Given the description of an element on the screen output the (x, y) to click on. 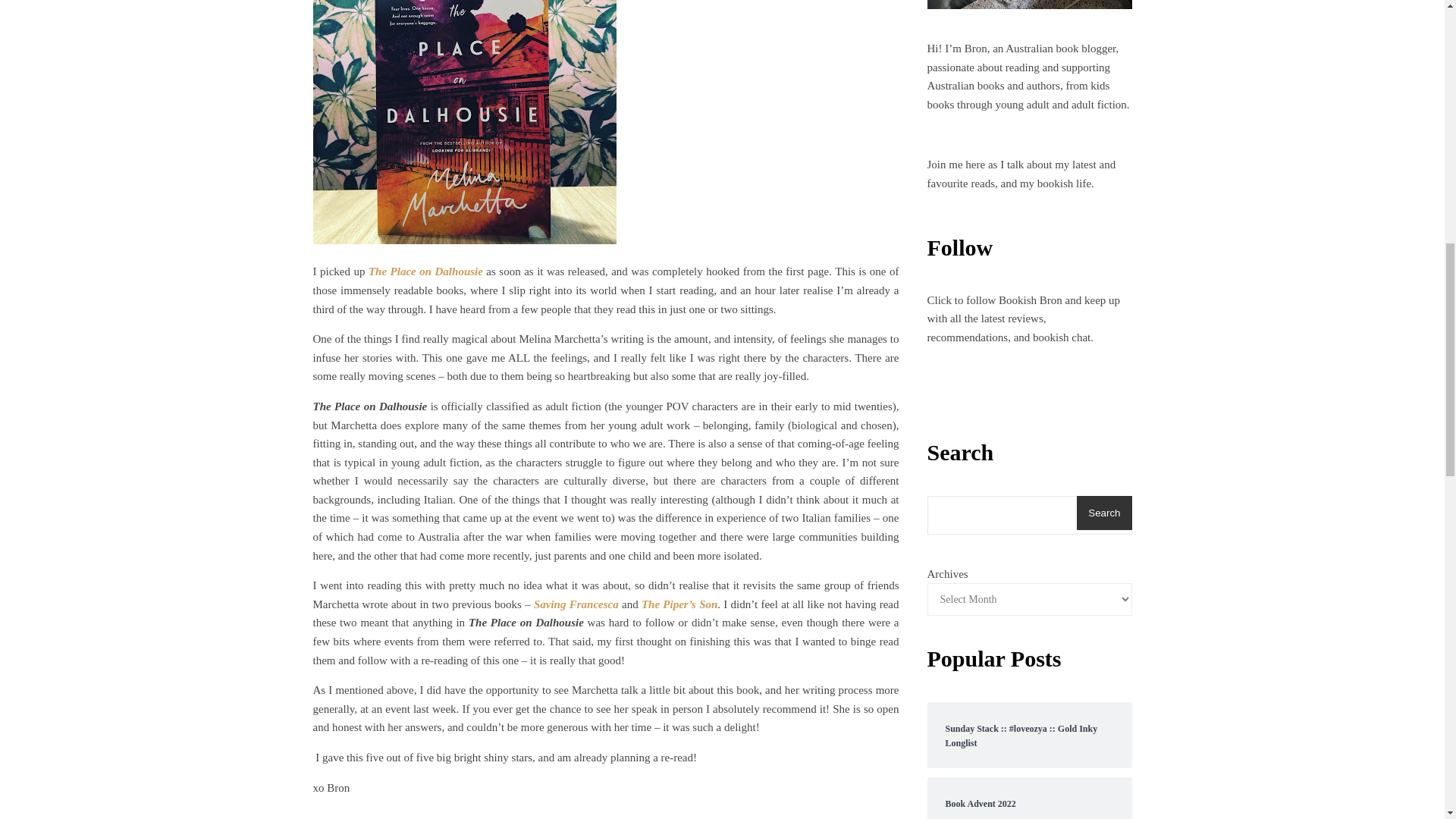
Saving Francesca (576, 604)
Follow Button (1028, 395)
Search (1104, 512)
The Place on Dalhousie (425, 271)
